Given the description of an element on the screen output the (x, y) to click on. 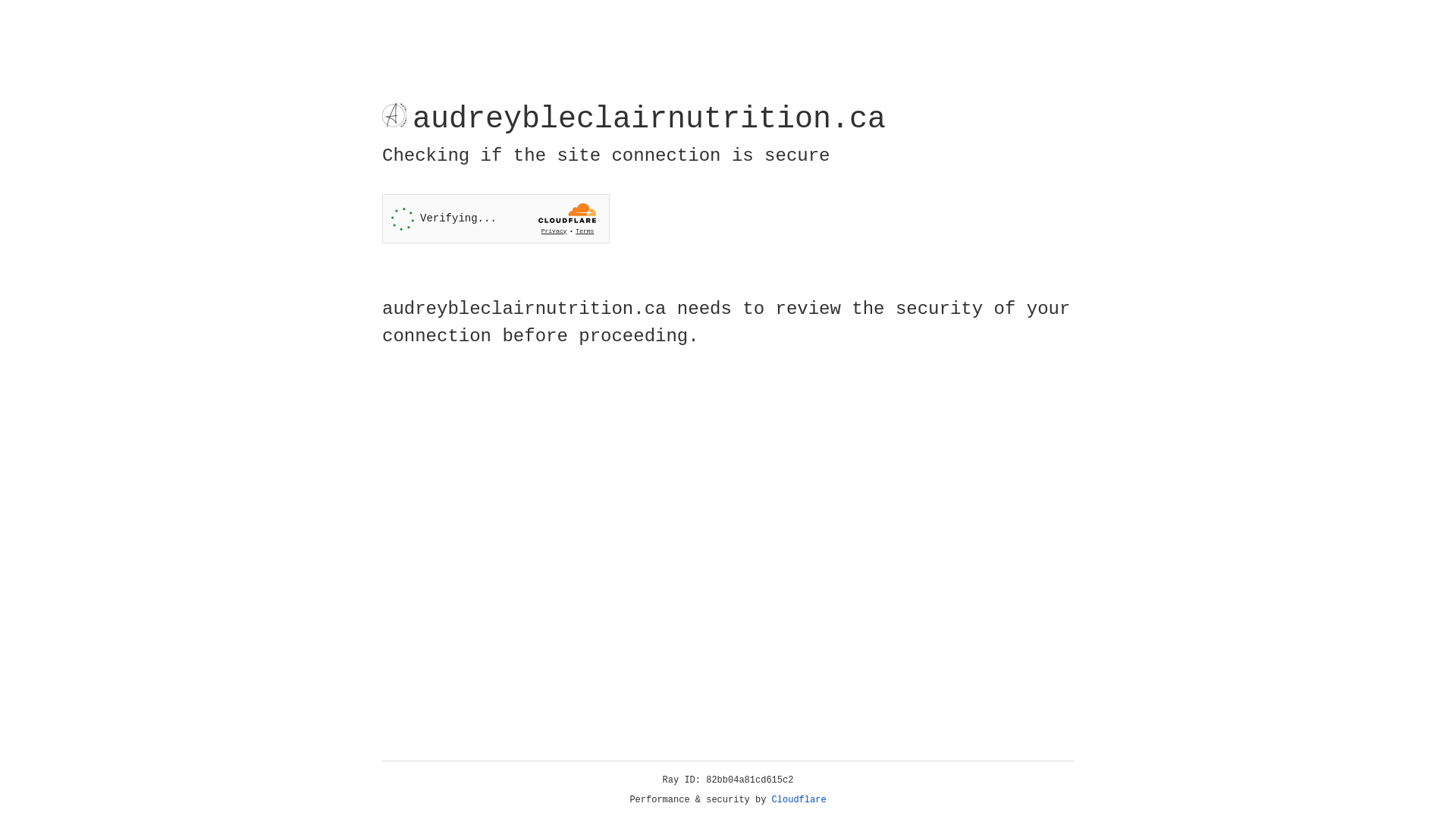
Widget containing a Cloudflare security challenge Element type: hover (495, 218)
Cloudflare Element type: text (798, 799)
